Given the description of an element on the screen output the (x, y) to click on. 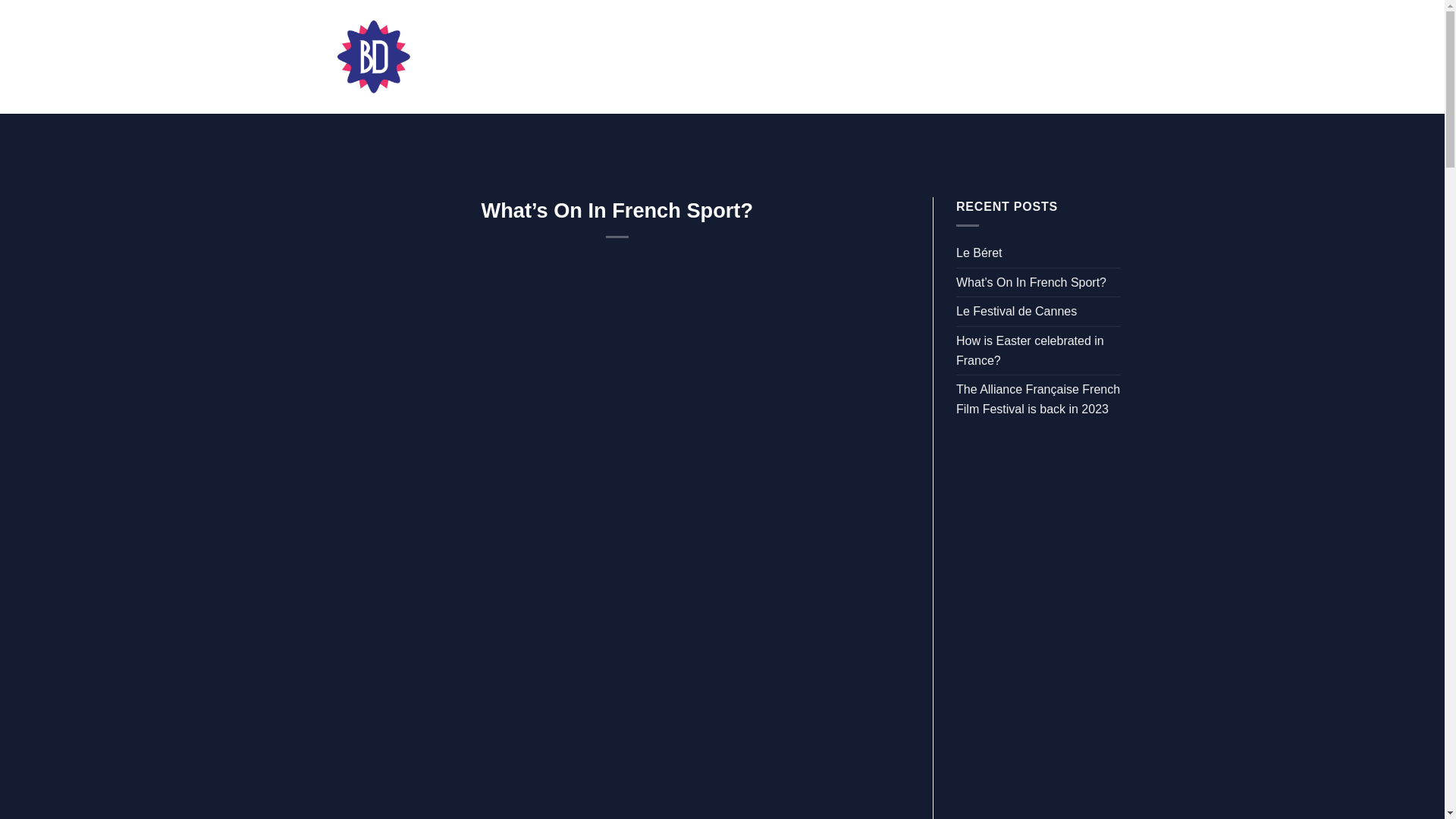
HISTORY (783, 56)
ABOUT US (641, 56)
FESTIVAL PROGRAM (517, 56)
CONTACT US (877, 56)
Le Festival de Cannes (1016, 311)
